Given the description of an element on the screen output the (x, y) to click on. 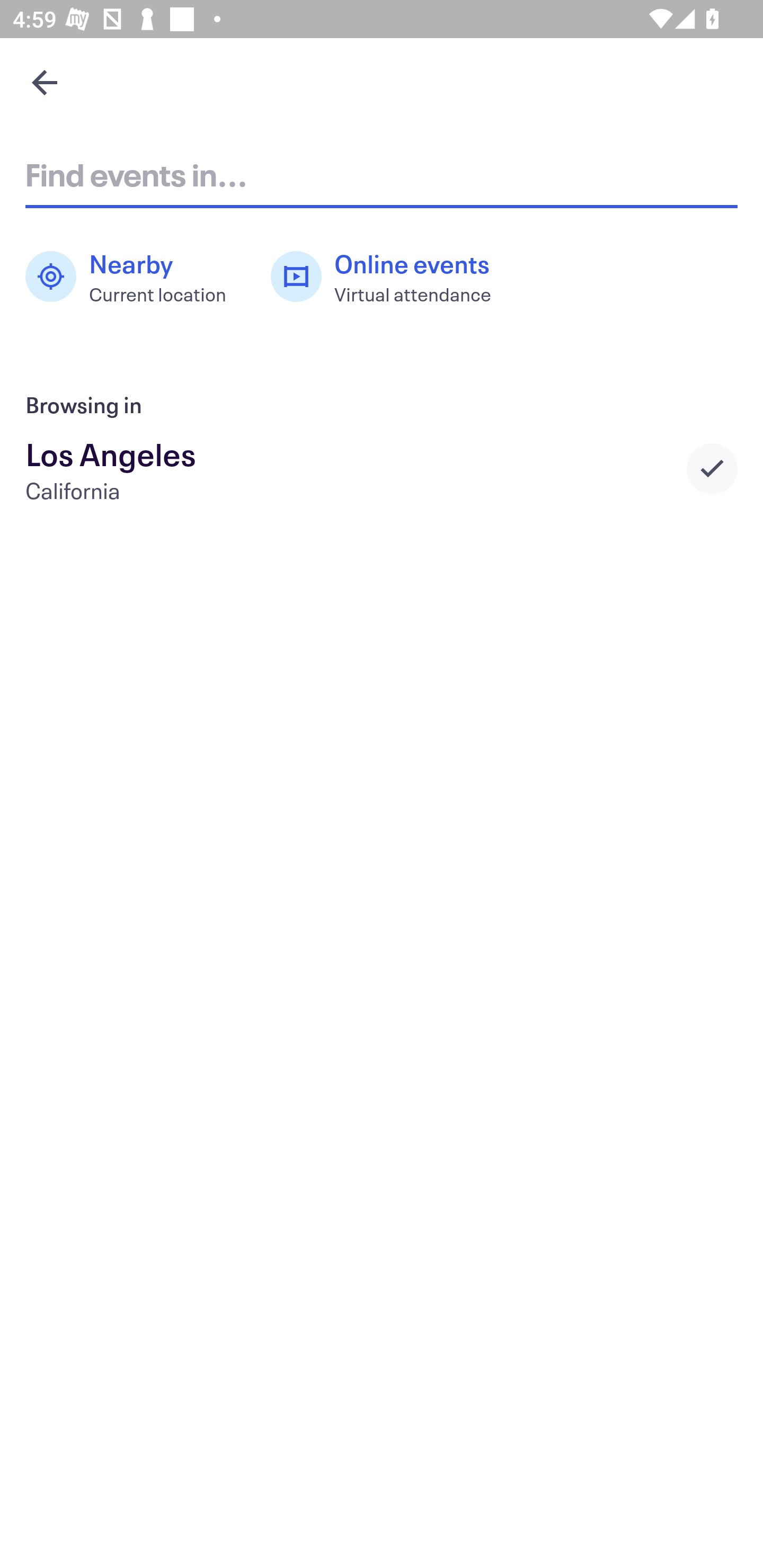
Navigate up (44, 82)
Find events in... (381, 173)
Nearby Current location (135, 276)
Online events Virtual attendance (390, 276)
Los Angeles California Selected city (381, 468)
